Given the description of an element on the screen output the (x, y) to click on. 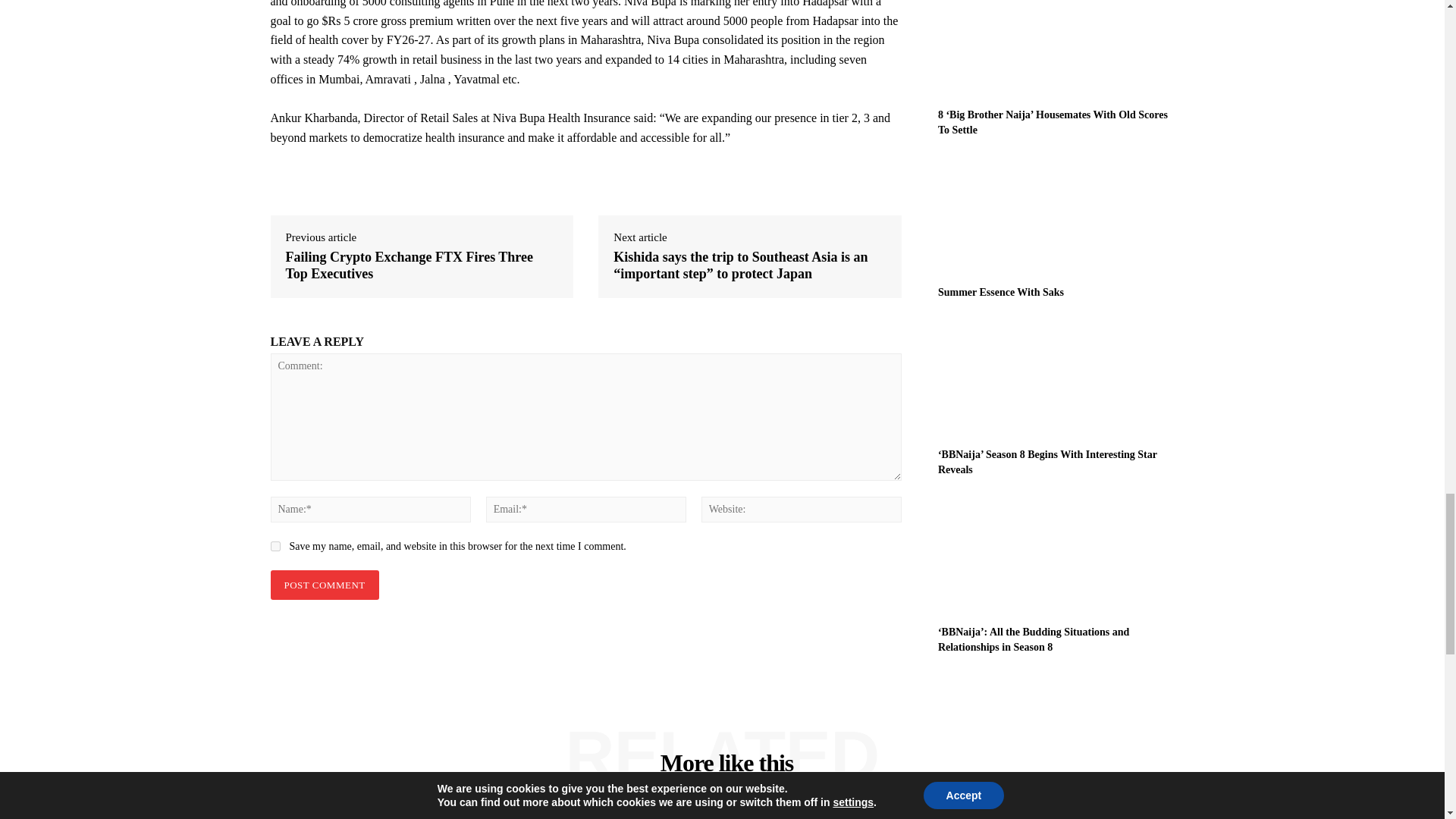
Post Comment (323, 584)
yes (274, 546)
Summer Essence With Saks (1000, 292)
Summer Essence With Saks (1055, 216)
